Given the description of an element on the screen output the (x, y) to click on. 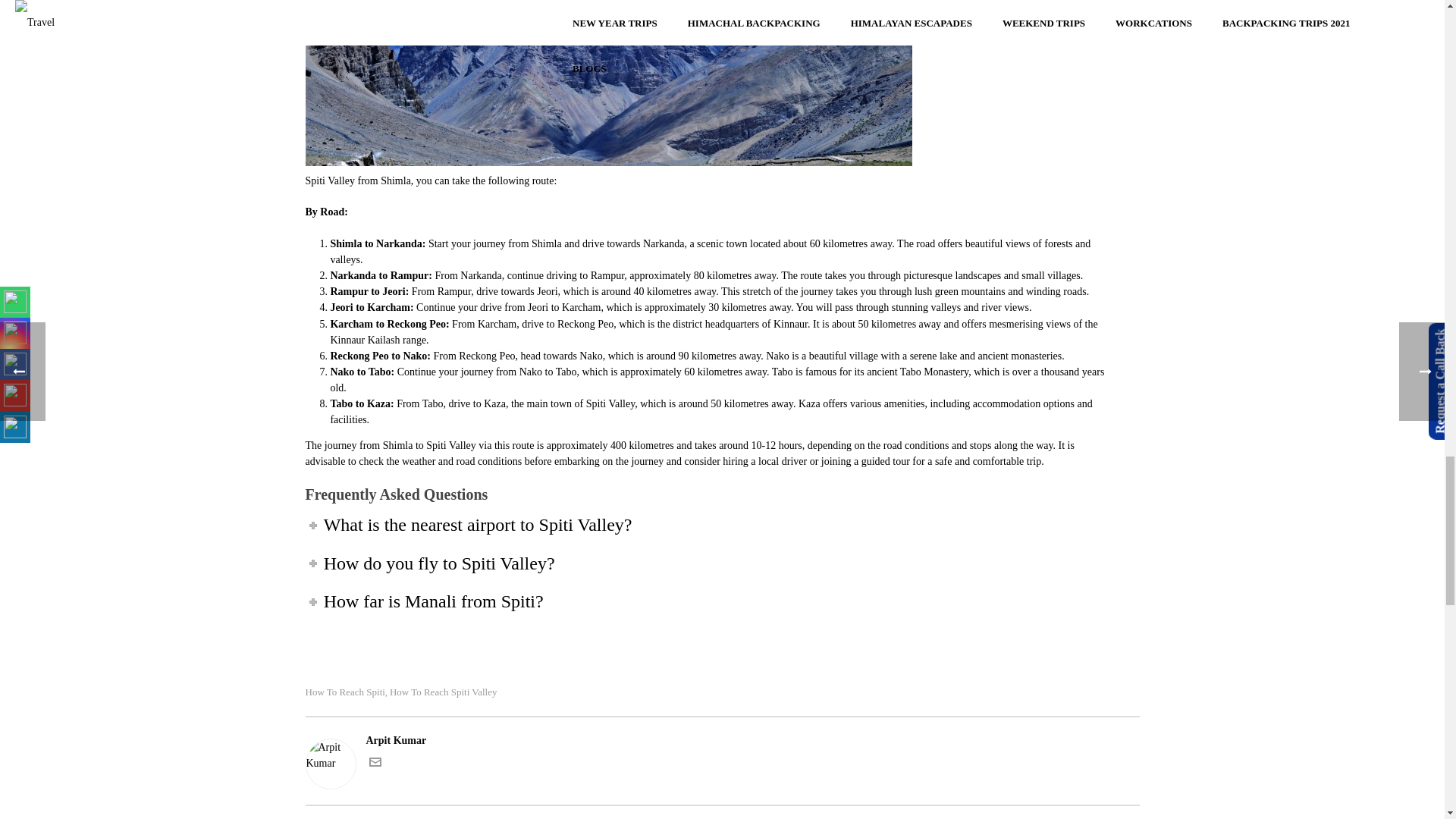
Get in touch with me via email (374, 764)
how-to-reach-spiti-valley-from-shimla (607, 83)
